Given the description of an element on the screen output the (x, y) to click on. 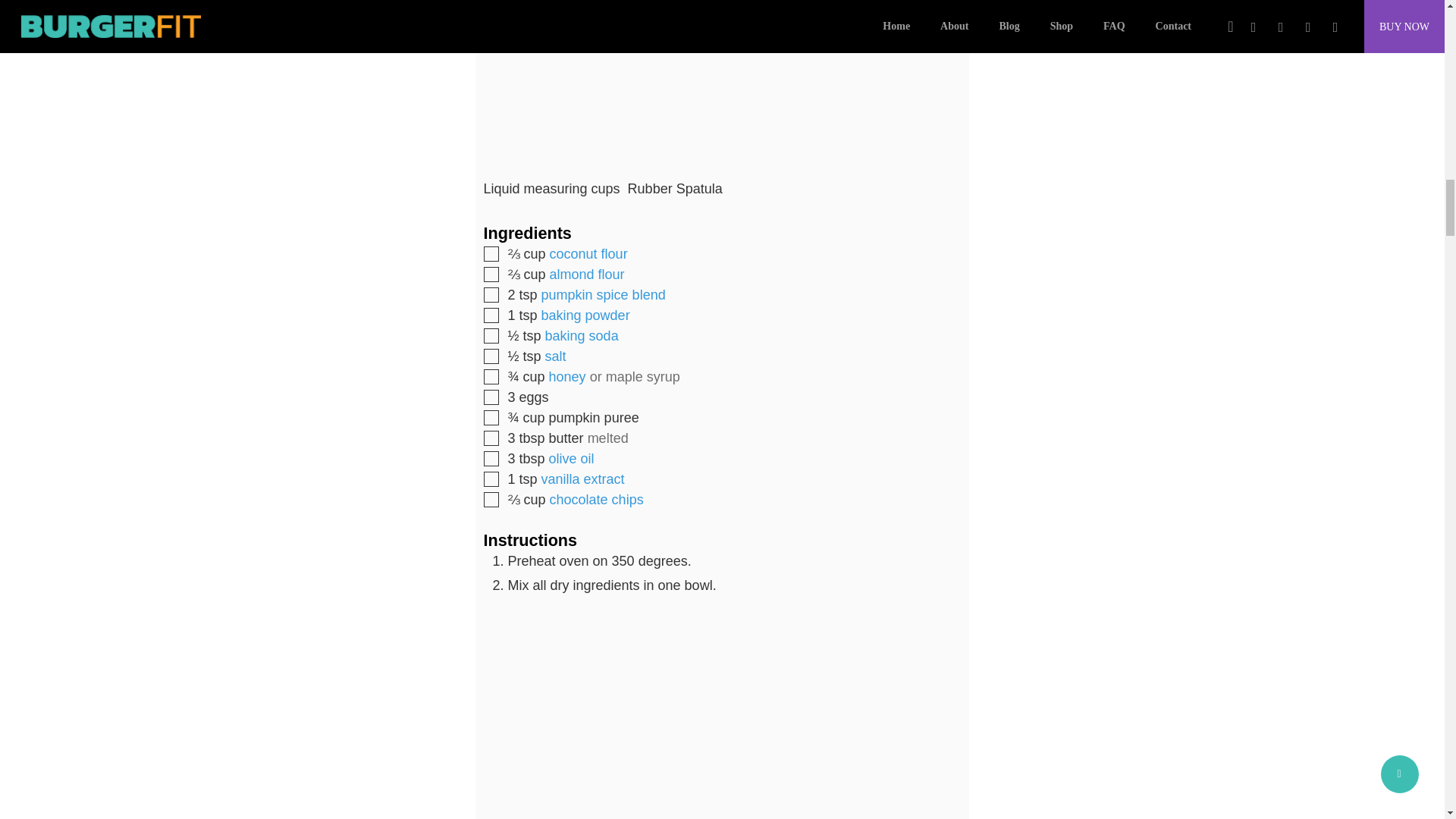
baking powder (585, 314)
almond flour (587, 273)
coconut flour (588, 253)
pumpkin spice blend (603, 294)
